Given the description of an element on the screen output the (x, y) to click on. 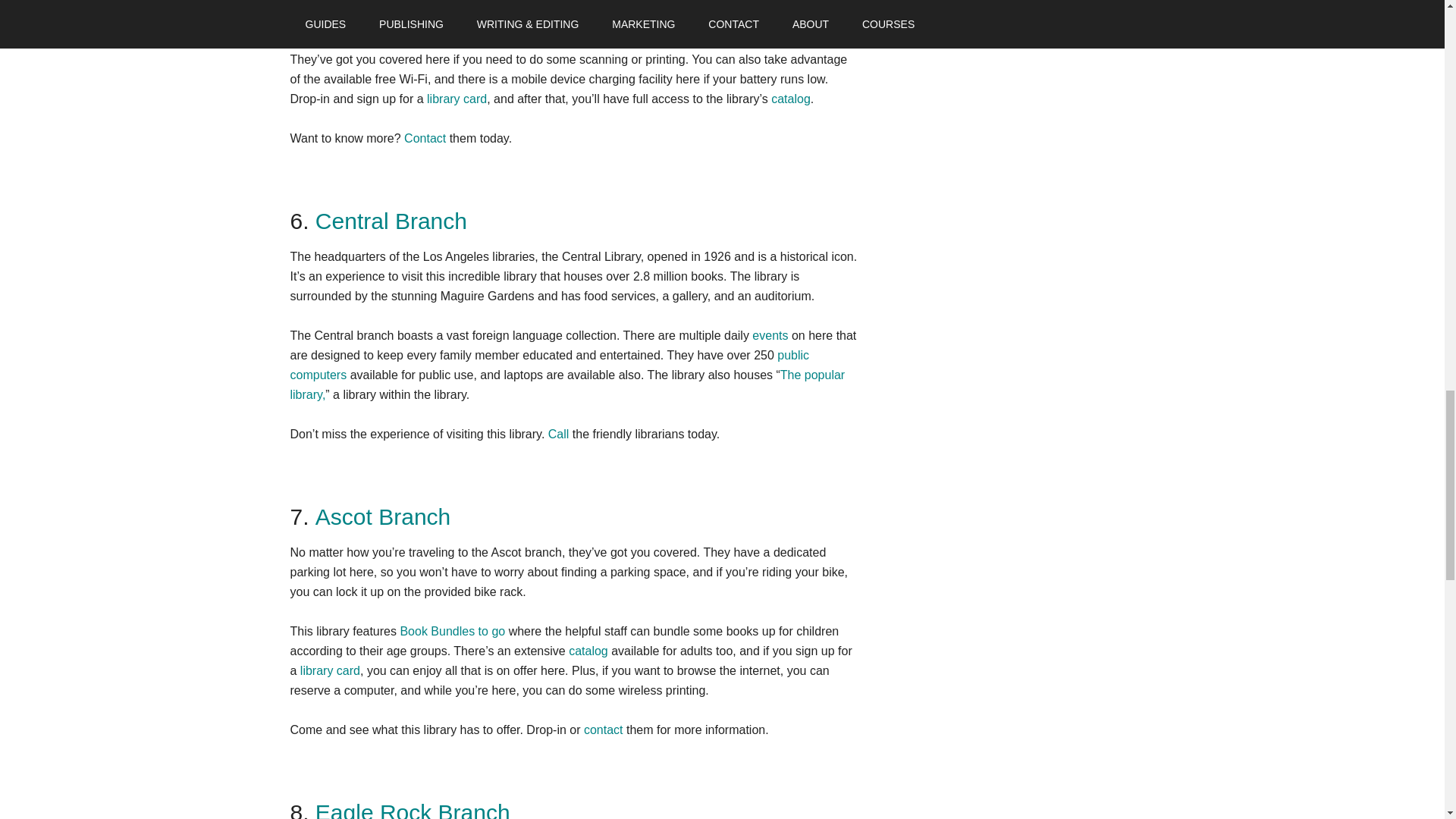
library card (456, 98)
Contact (424, 137)
catalog (790, 98)
